Given the description of an element on the screen output the (x, y) to click on. 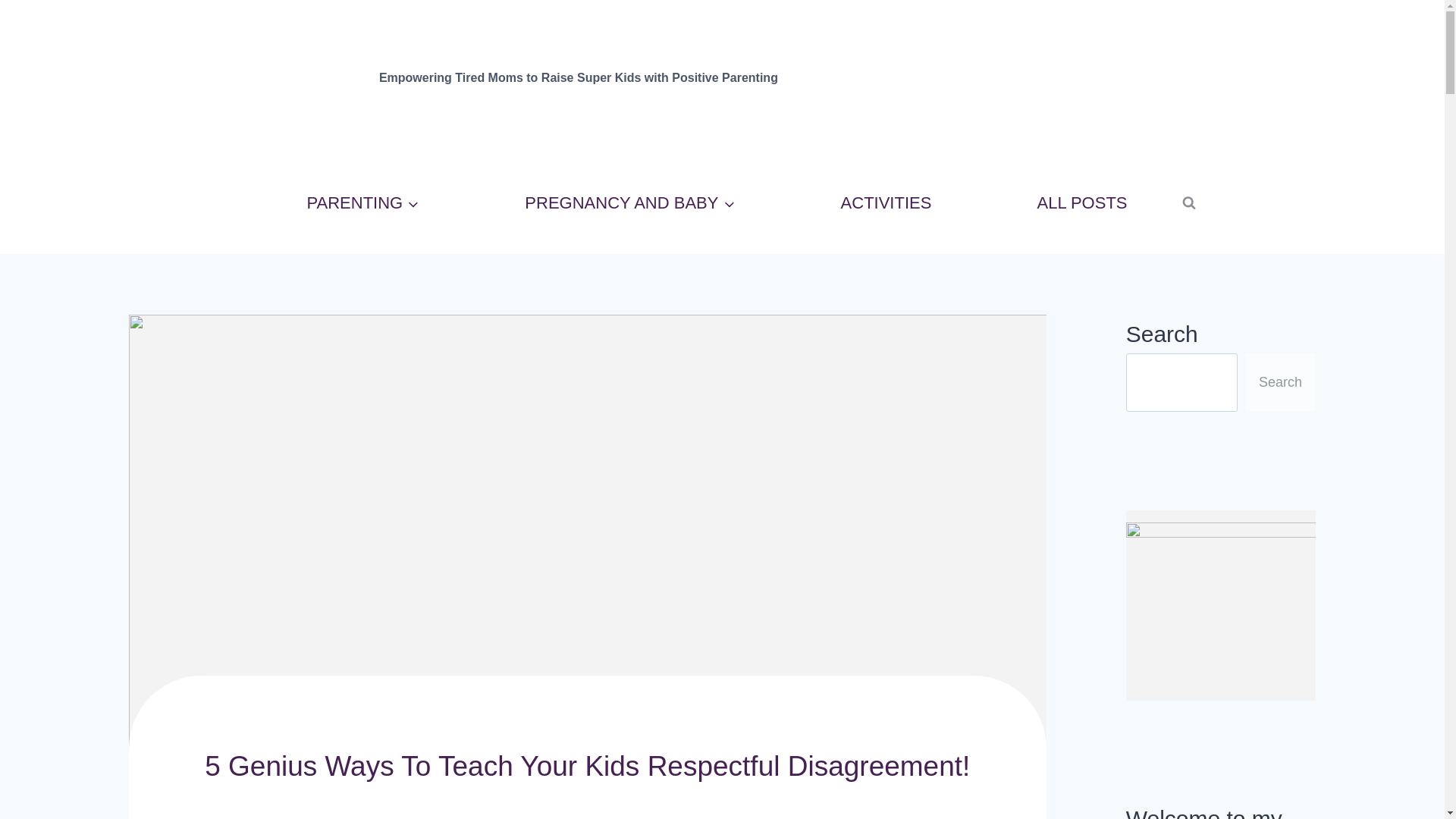
PREGNANCY AND BABY (630, 203)
ALL POSTS (1081, 203)
ACTIVITIES (885, 203)
Search (1280, 381)
PARENTING (363, 203)
